Given the description of an element on the screen output the (x, y) to click on. 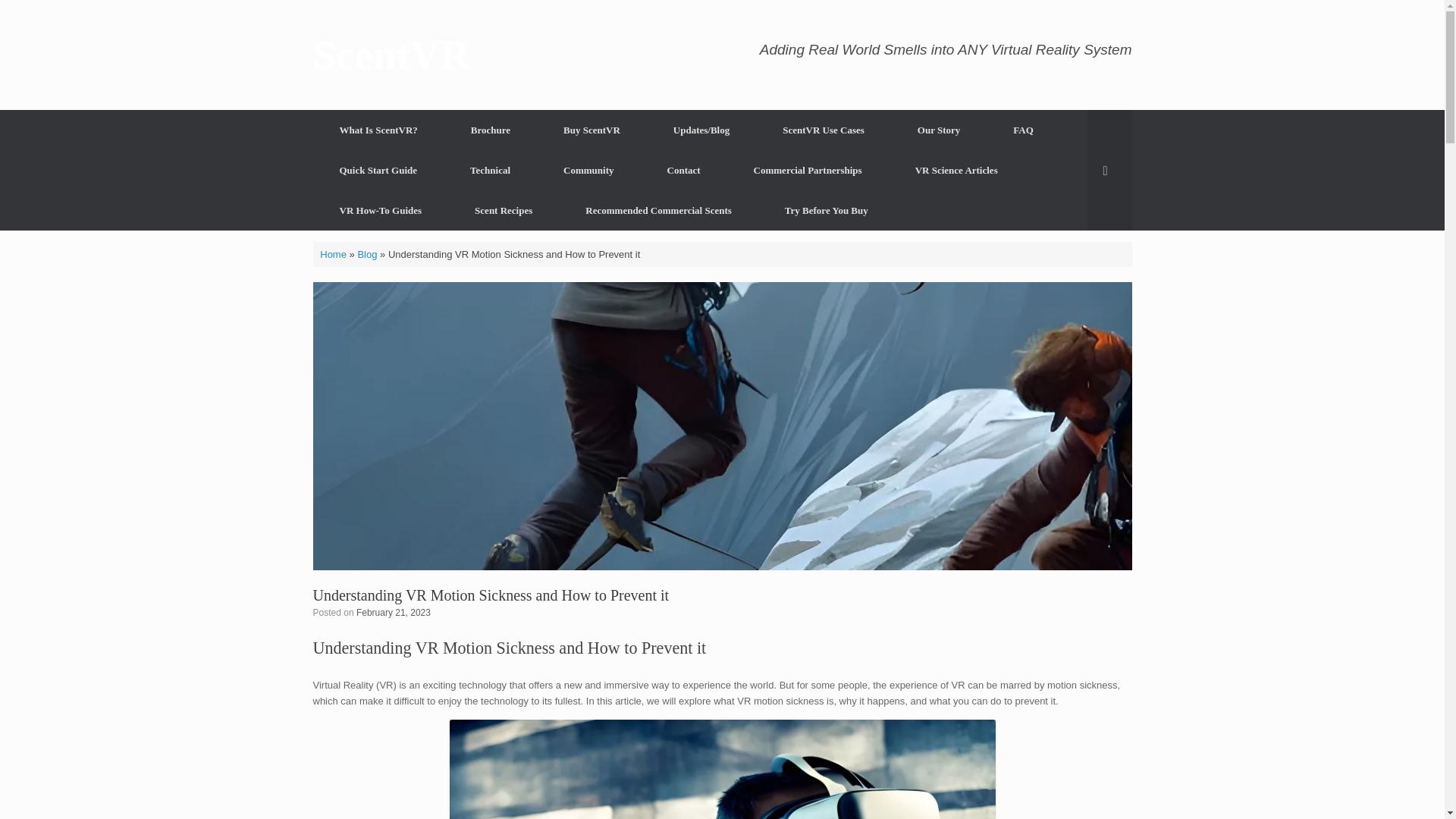
Quick Start Guide (378, 169)
Buy ScentVR (591, 129)
Contact (683, 169)
VR How-To Guides (380, 210)
Brochure (490, 129)
FAQ (1023, 129)
Commercial Partnerships (807, 169)
ScentVR (391, 55)
ScentVR (391, 55)
Our Story (939, 129)
